Given the description of an element on the screen output the (x, y) to click on. 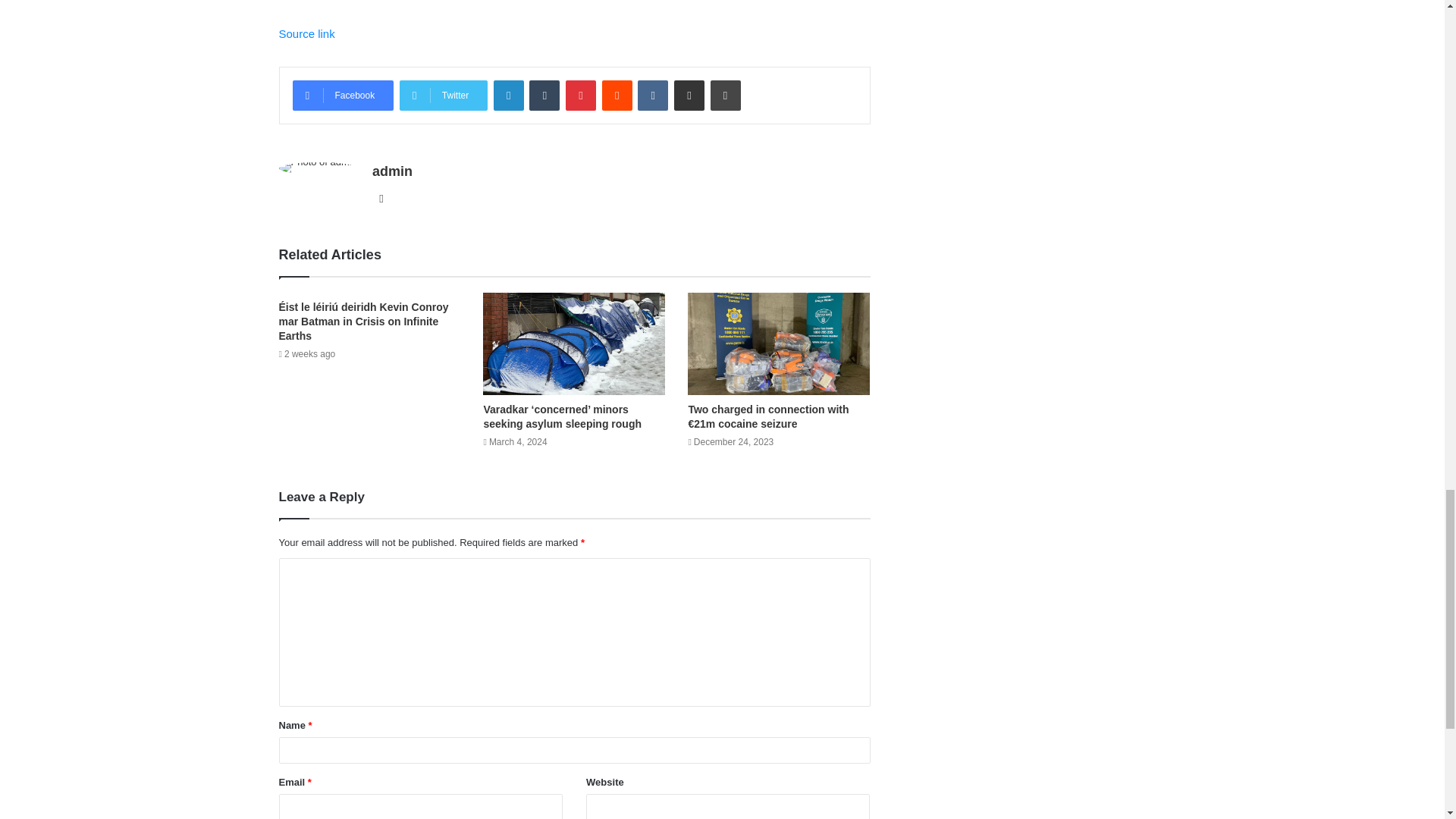
Reddit (616, 95)
VKontakte (652, 95)
Twitter (442, 95)
VKontakte (652, 95)
Tumblr (544, 95)
Facebook (343, 95)
Pinterest (580, 95)
Share via Email (689, 95)
Pinterest (580, 95)
Tumblr (544, 95)
Facebook (343, 95)
LinkedIn (508, 95)
Reddit (616, 95)
LinkedIn (508, 95)
Twitter (442, 95)
